Given the description of an element on the screen output the (x, y) to click on. 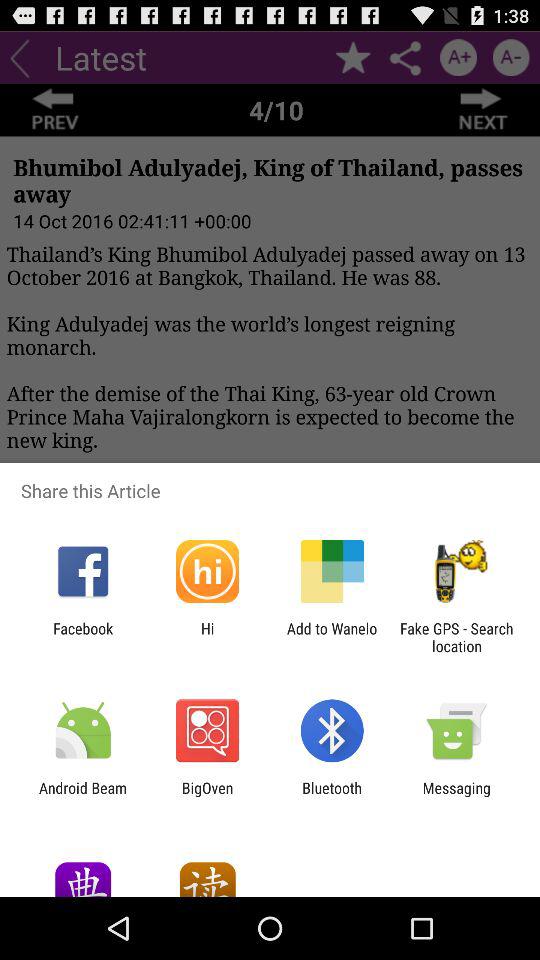
launch item to the right of hi (331, 637)
